Given the description of an element on the screen output the (x, y) to click on. 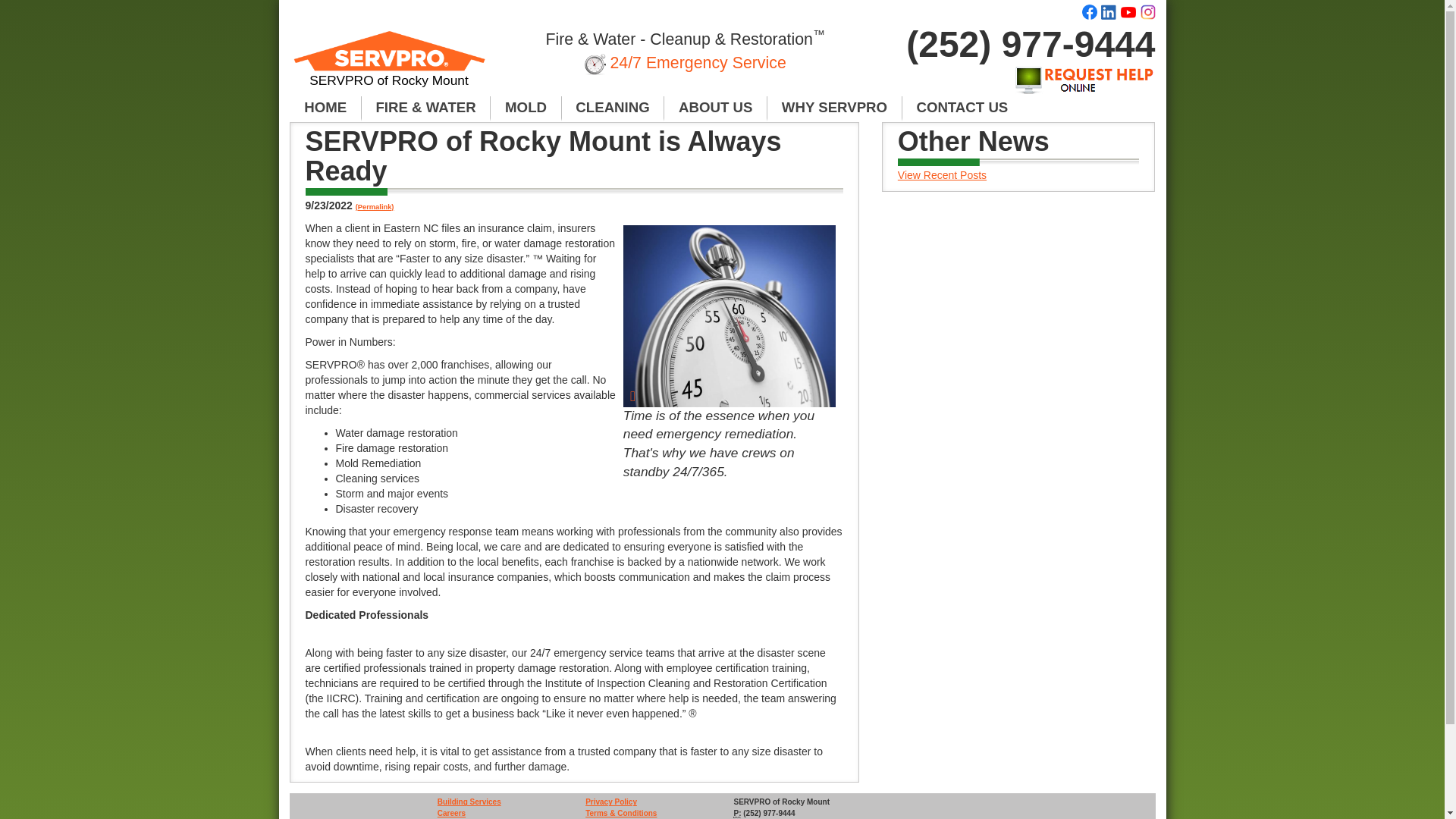
MOLD (525, 108)
SERVPRO of Rocky Mount (389, 65)
CLEANING (613, 108)
ABOUT US (715, 108)
HOME (325, 108)
